Given the description of an element on the screen output the (x, y) to click on. 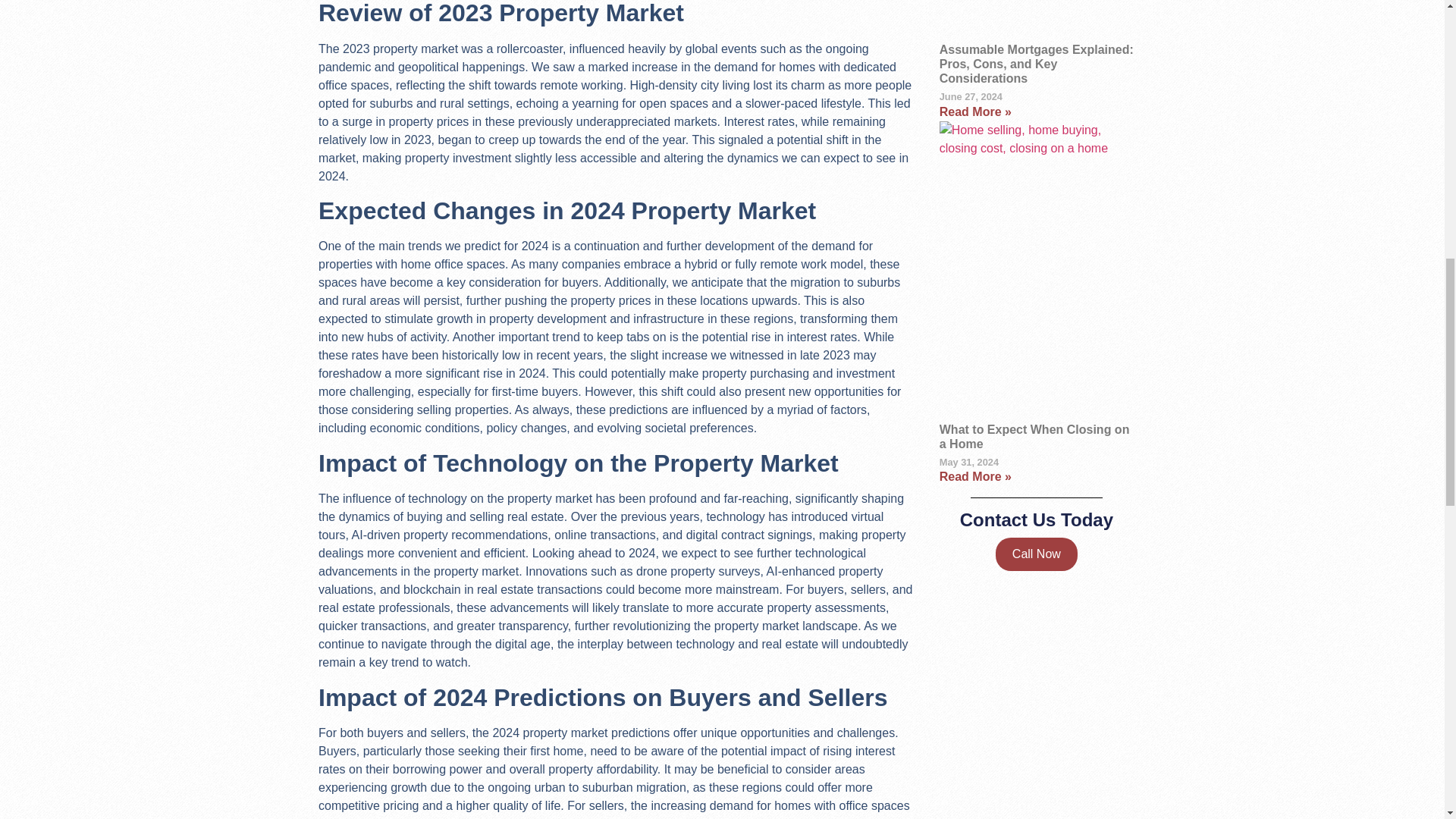
What to Expect When Closing on a Home (1034, 436)
Call Now (1036, 553)
